Given the description of an element on the screen output the (x, y) to click on. 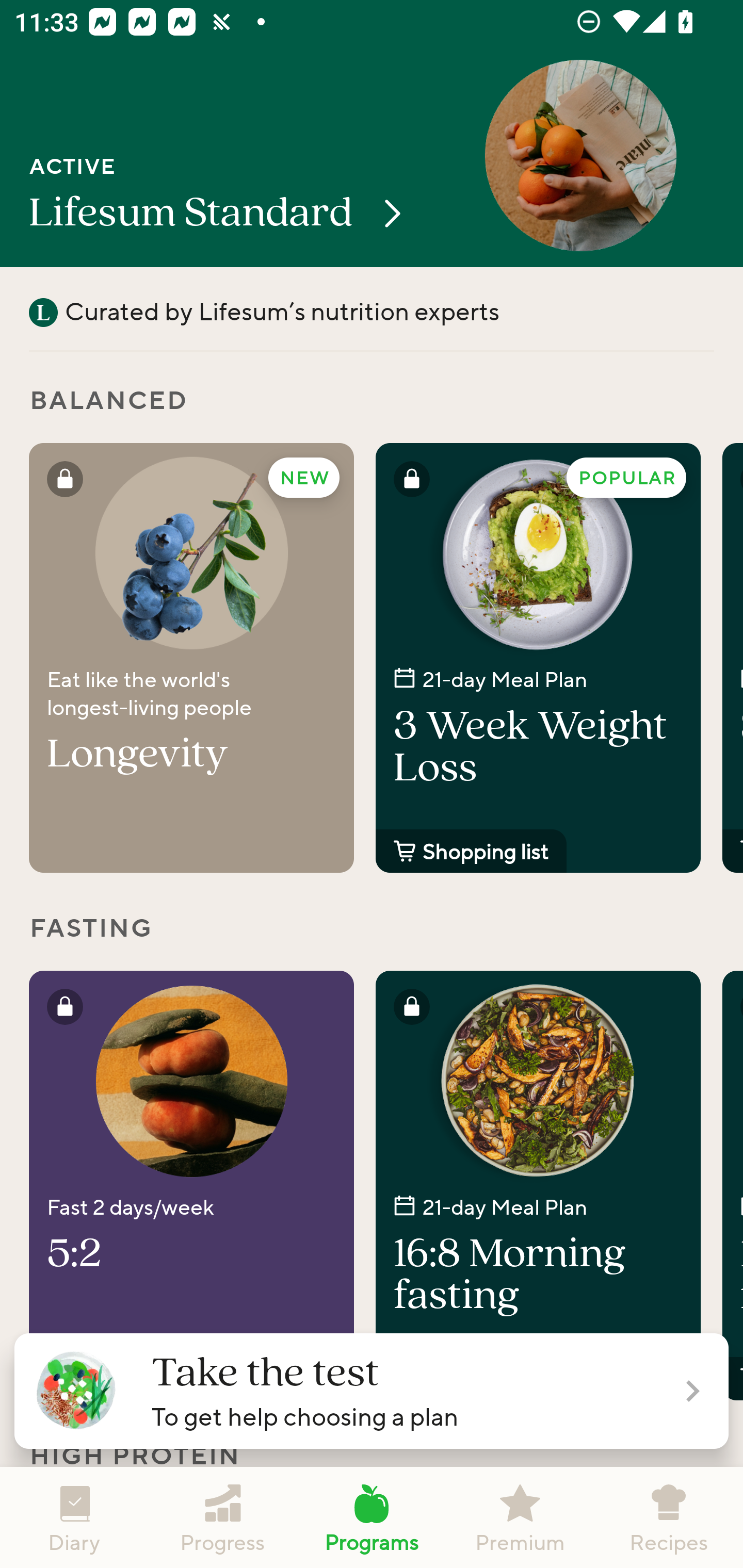
Fast 2 days/week 5:2 (190, 1185)
Take the test To get help choosing a plan (371, 1390)
Diary (74, 1517)
Progress (222, 1517)
Premium (519, 1517)
Recipes (668, 1517)
